Given the description of an element on the screen output the (x, y) to click on. 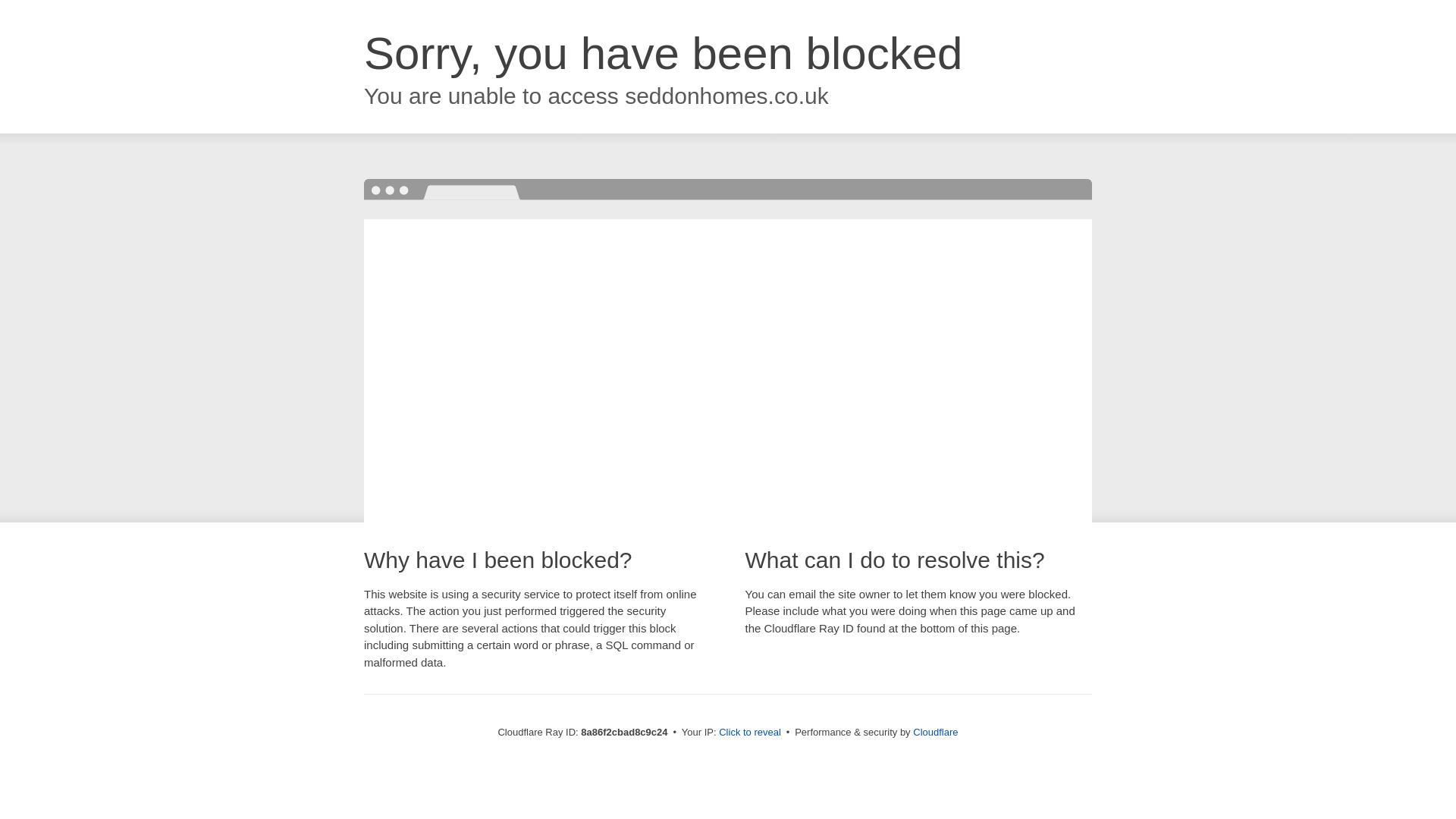
Click to reveal (749, 732)
Cloudflare (935, 731)
